Given the description of an element on the screen output the (x, y) to click on. 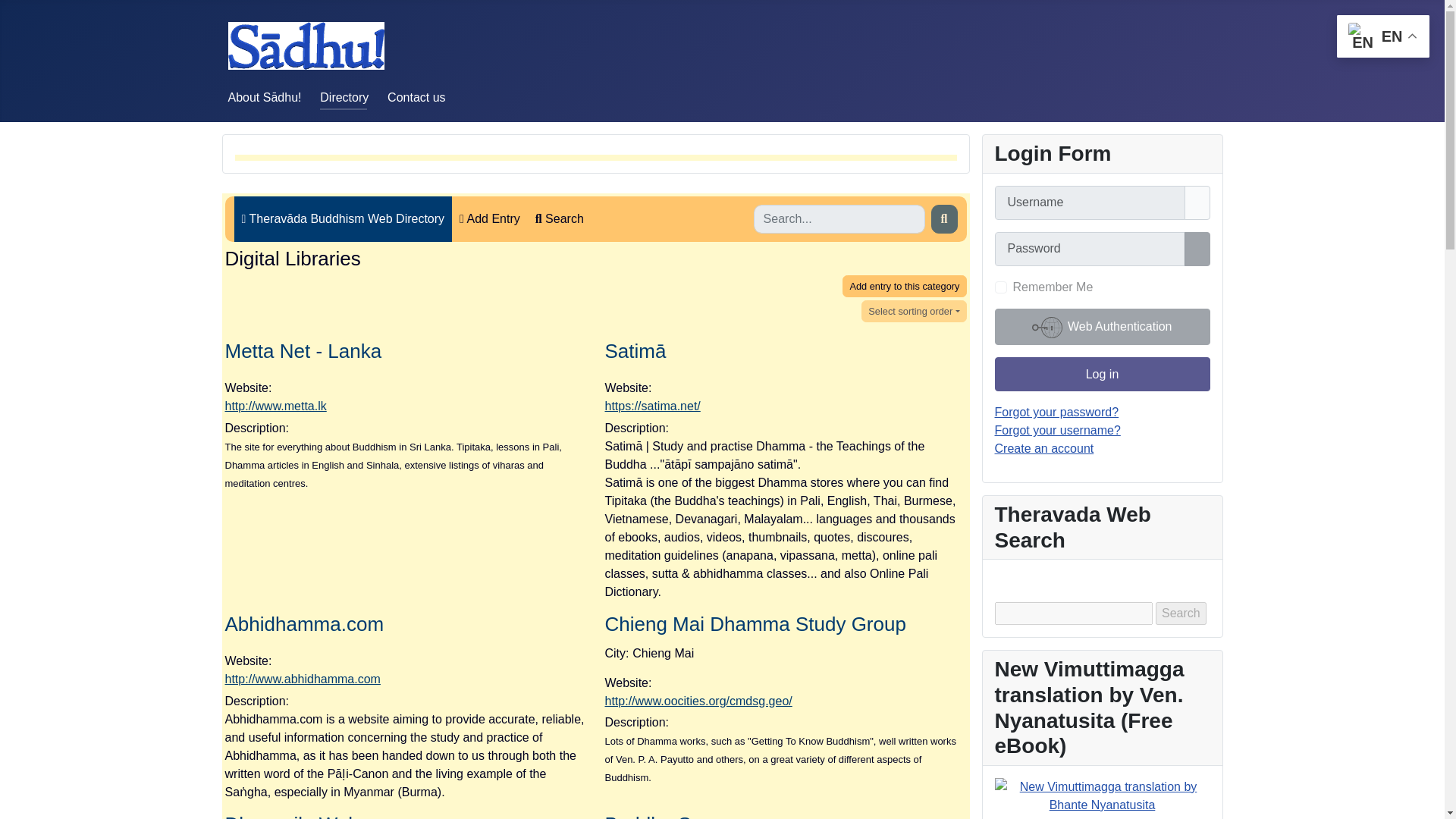
Chieng Mai Dhamma Study Group (755, 623)
Add entry to this category (904, 286)
yes (1000, 287)
Username (1197, 202)
Metta Net - Lanka (302, 350)
Abhidhamma.com (304, 623)
Search (559, 218)
Add Entry (489, 218)
Contact us (416, 97)
Web Authentication (1101, 326)
Directory (344, 97)
Select sorting order (913, 311)
Search (1181, 612)
